Given the description of an element on the screen output the (x, y) to click on. 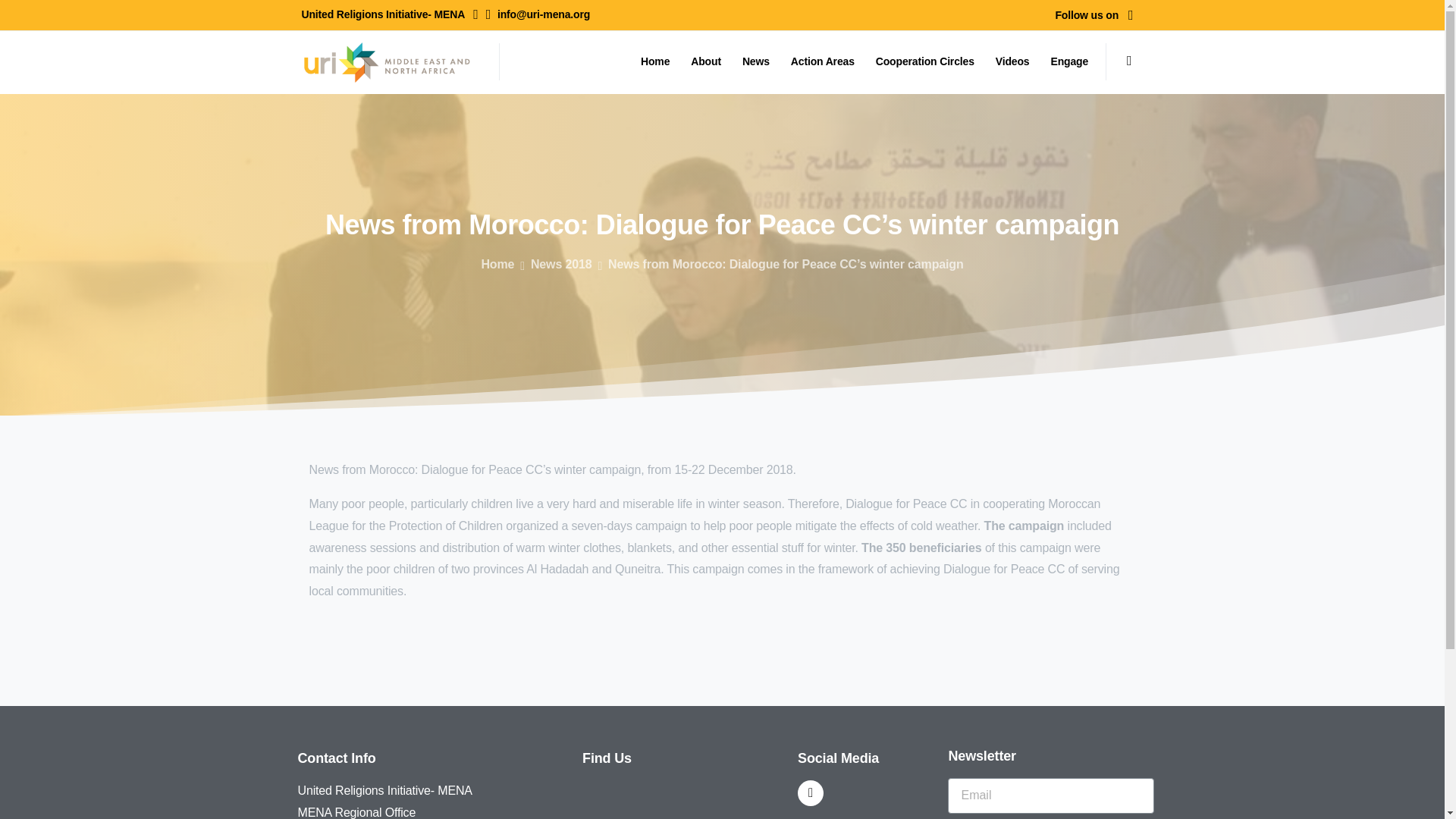
Engage (1065, 61)
Cooperation Circles (921, 61)
Videos (1009, 61)
About (702, 61)
Home (651, 61)
Home (496, 264)
News (753, 61)
Action Areas (819, 61)
Cooperation Circles (921, 61)
Action Areas (819, 61)
Home (651, 61)
News (753, 61)
About (702, 61)
Facebook (1130, 15)
United Religions Initiative- MENA (390, 15)
